Given the description of an element on the screen output the (x, y) to click on. 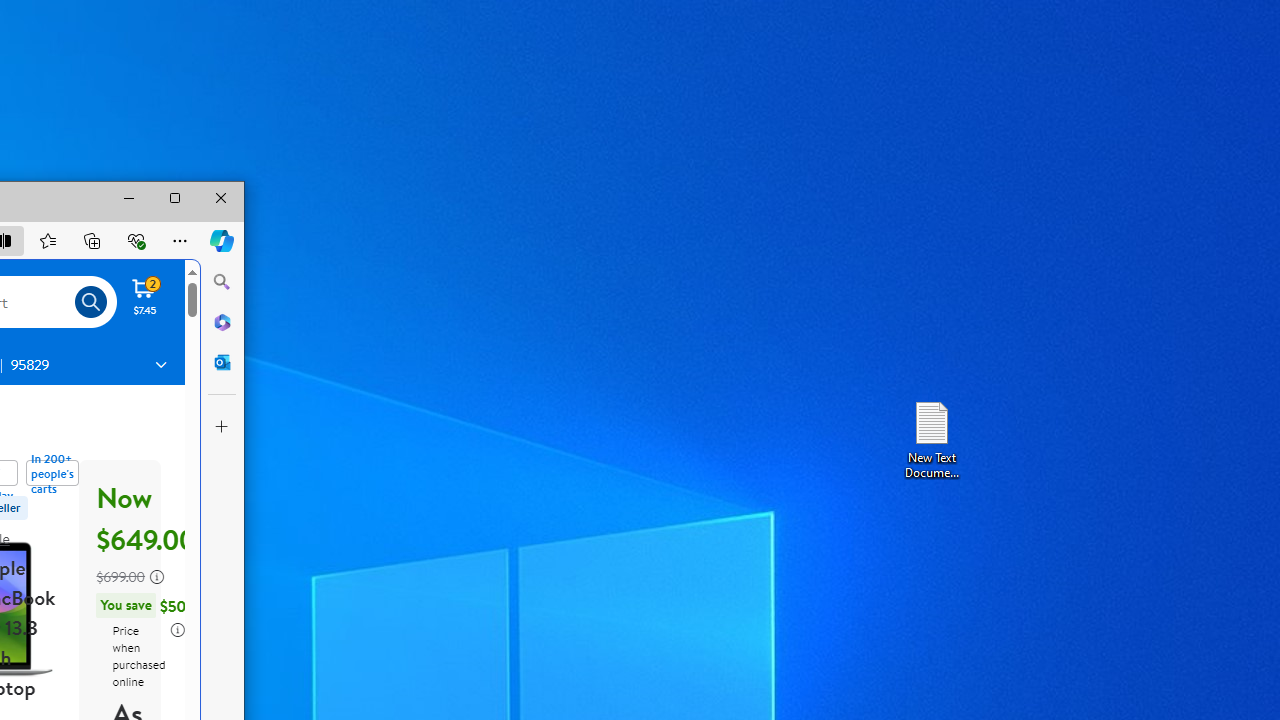
legal information (176, 629)
Cart contains 2 items Total Amount $7.45 (145, 295)
Close Search pane (221, 282)
Close Outlook pane (221, 362)
Maximize (175, 198)
learn more about strikethrough prices (157, 576)
Customize (221, 426)
Microsoft 365 (221, 321)
